Given the description of an element on the screen output the (x, y) to click on. 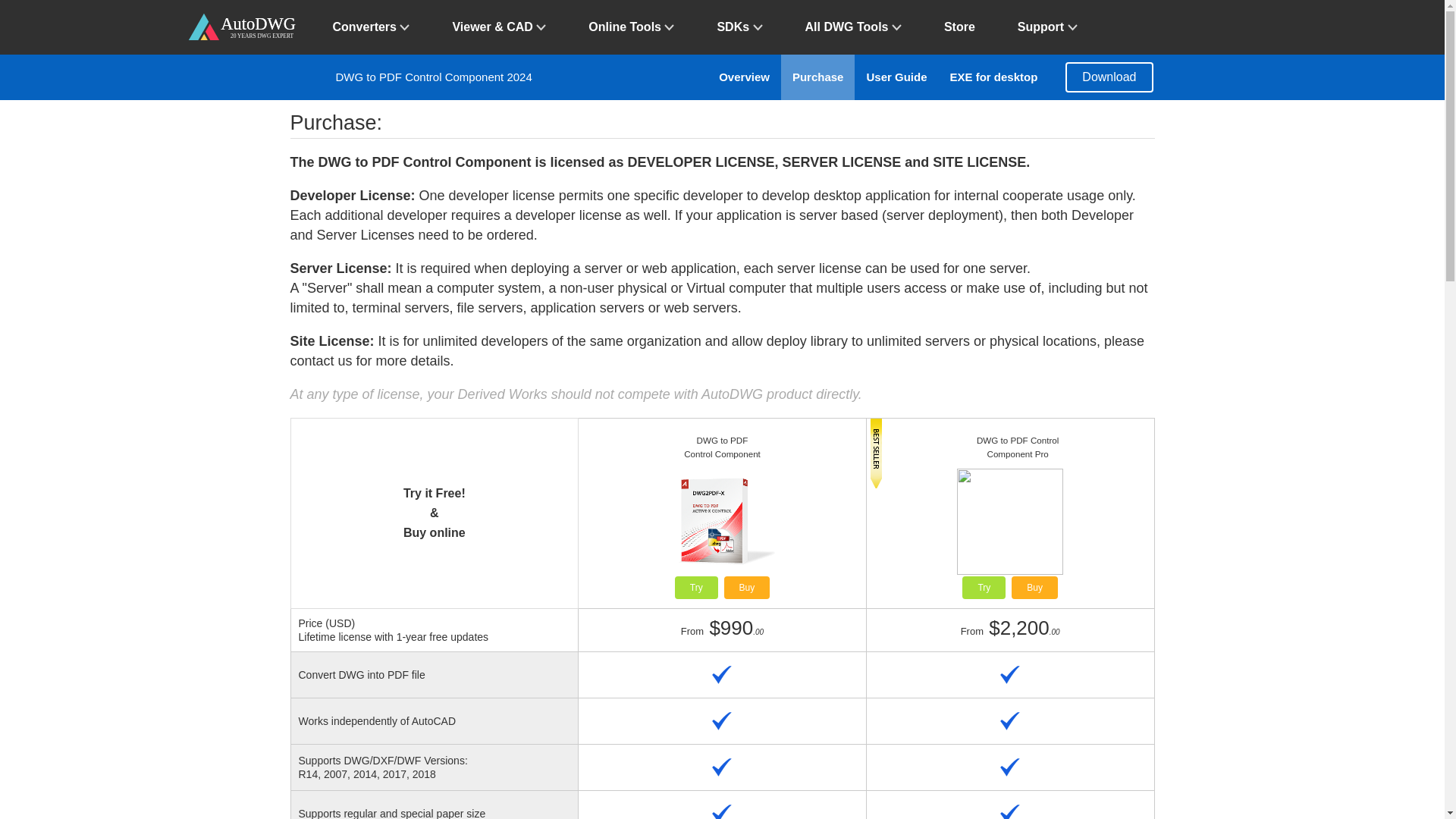
DWG2PDFX (746, 587)
DWG2PDFXPro (1034, 587)
SDKs (739, 27)
Online Tools (630, 27)
Converters (371, 27)
All DWG Tools (853, 27)
